Given the description of an element on the screen output the (x, y) to click on. 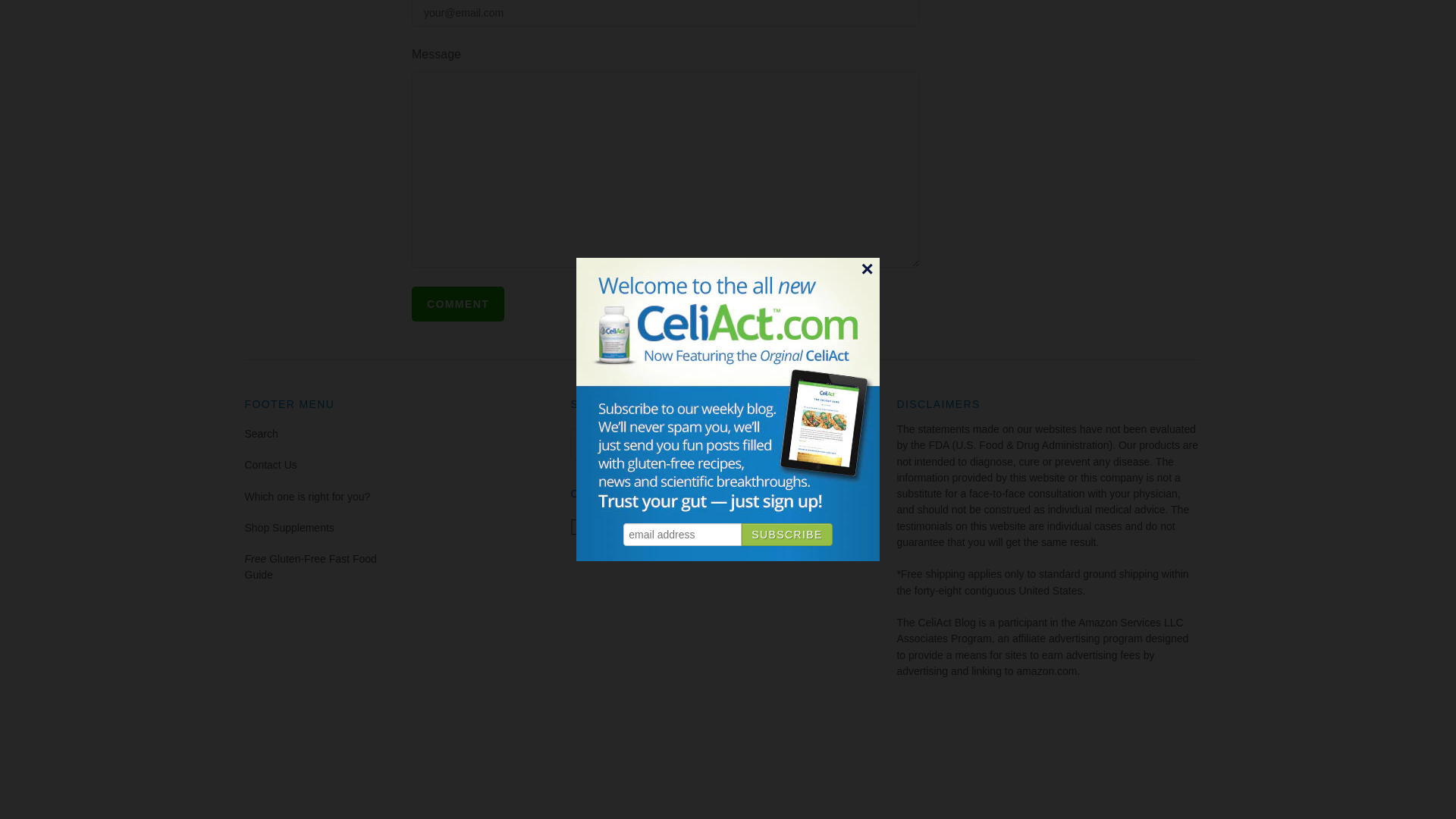
Comment (457, 303)
